Given the description of an element on the screen output the (x, y) to click on. 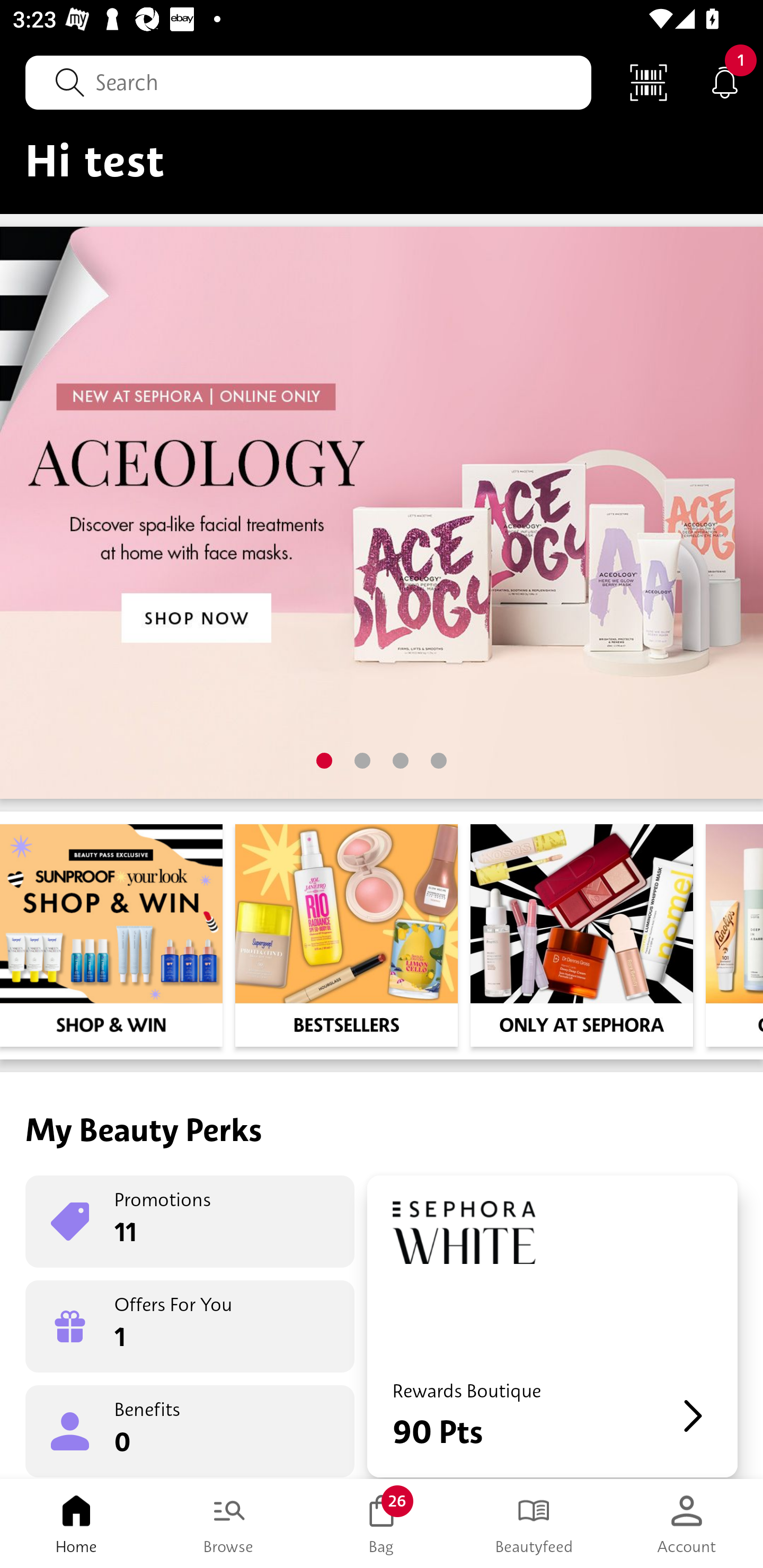
Scan Code (648, 81)
Notifications (724, 81)
Search (308, 81)
Promotions 11 (189, 1221)
Rewards Boutique 90 Pts (552, 1326)
Offers For You 1 (189, 1326)
Benefits 0 (189, 1430)
Browse (228, 1523)
Bag 26 Bag (381, 1523)
Beautyfeed (533, 1523)
Account (686, 1523)
